Given the description of an element on the screen output the (x, y) to click on. 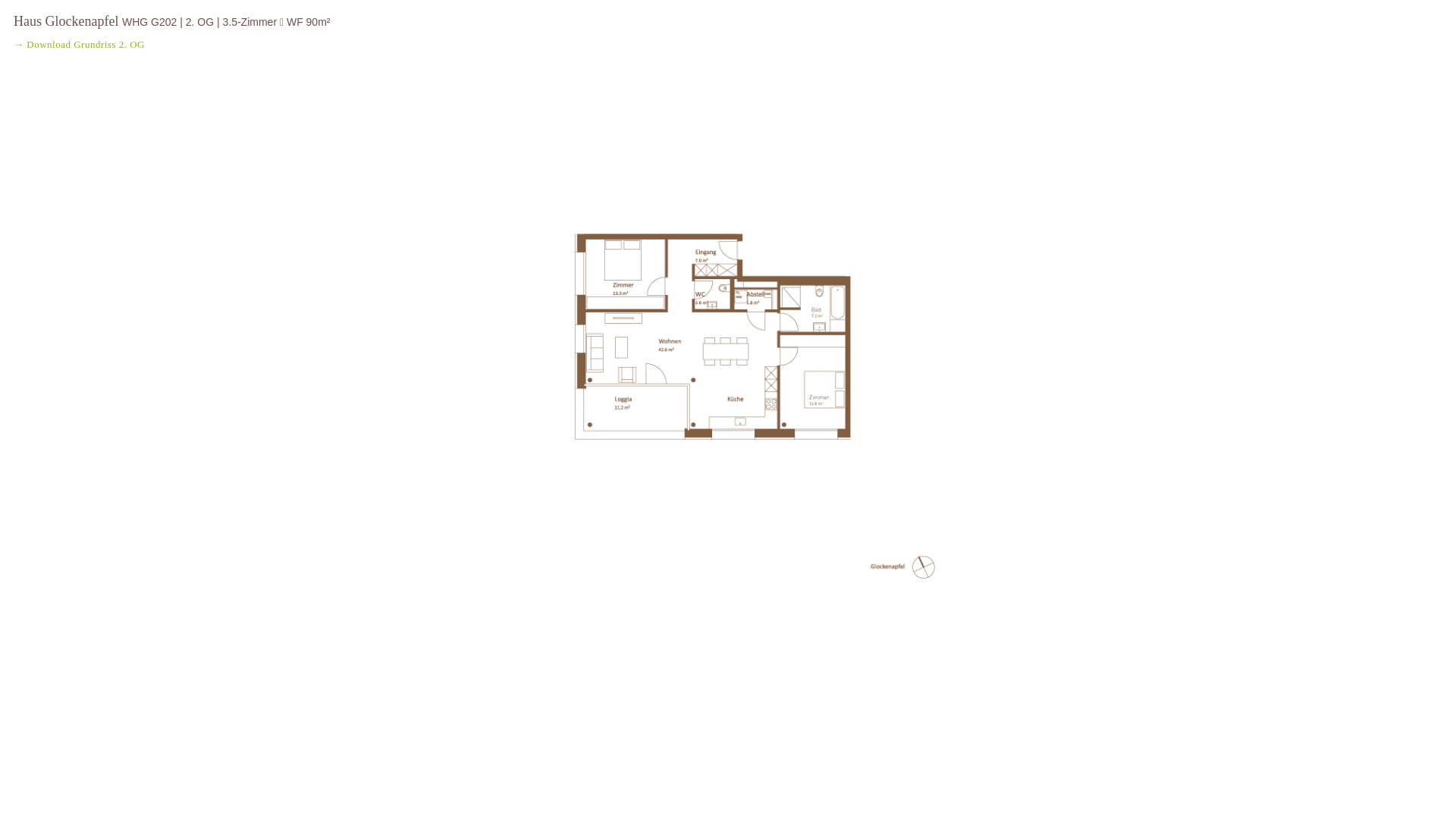
Download Grundriss 2. OG Element type: text (85, 44)
